Given the description of an element on the screen output the (x, y) to click on. 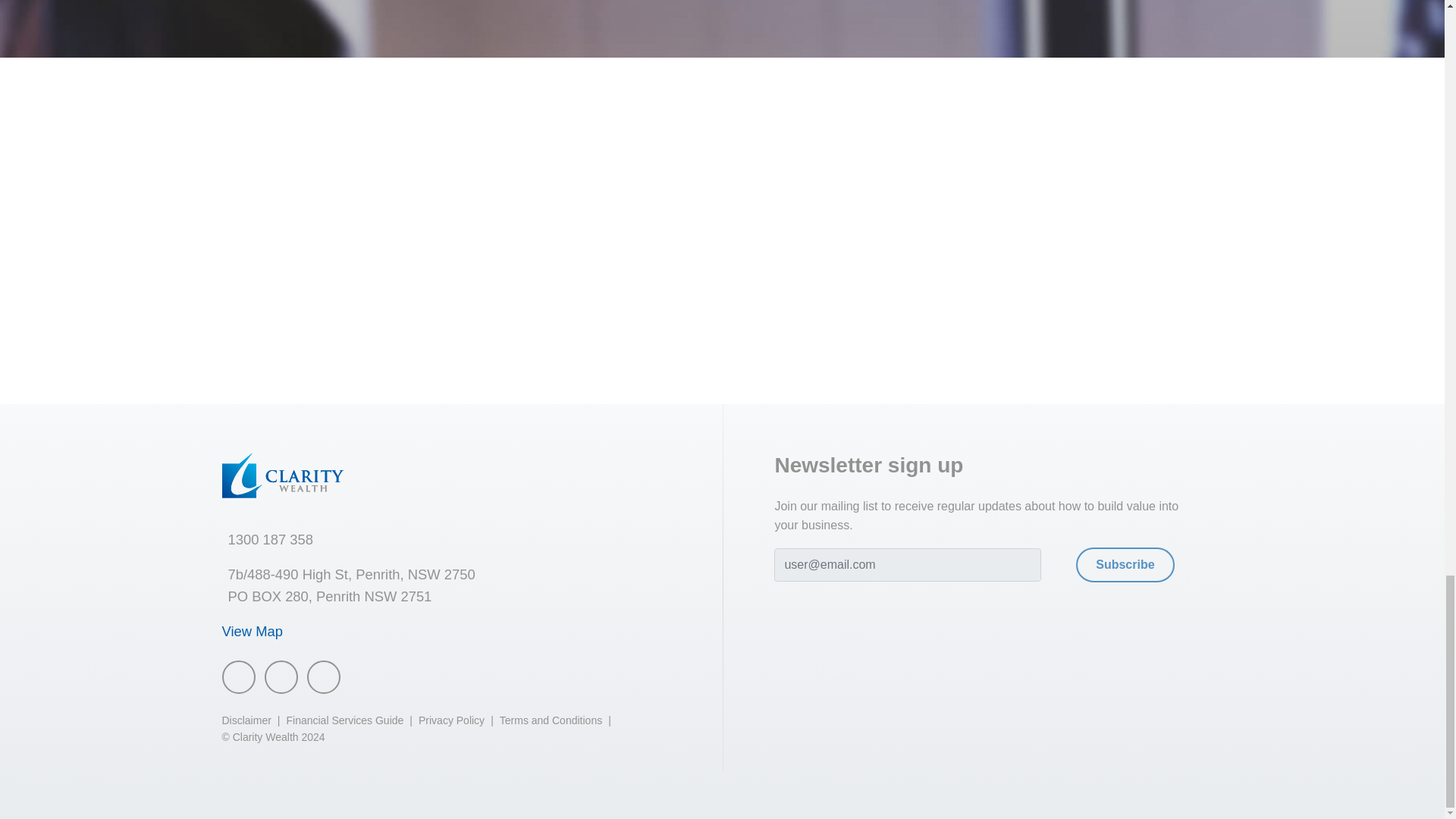
Subscribe (1124, 564)
Financial Services Guide (344, 720)
View Map (254, 631)
LinkedIn (322, 676)
Facebook (237, 676)
1300 187 358 (270, 539)
Subscribe (1124, 564)
Instagram (280, 676)
Disclaimer (245, 720)
